Given the description of an element on the screen output the (x, y) to click on. 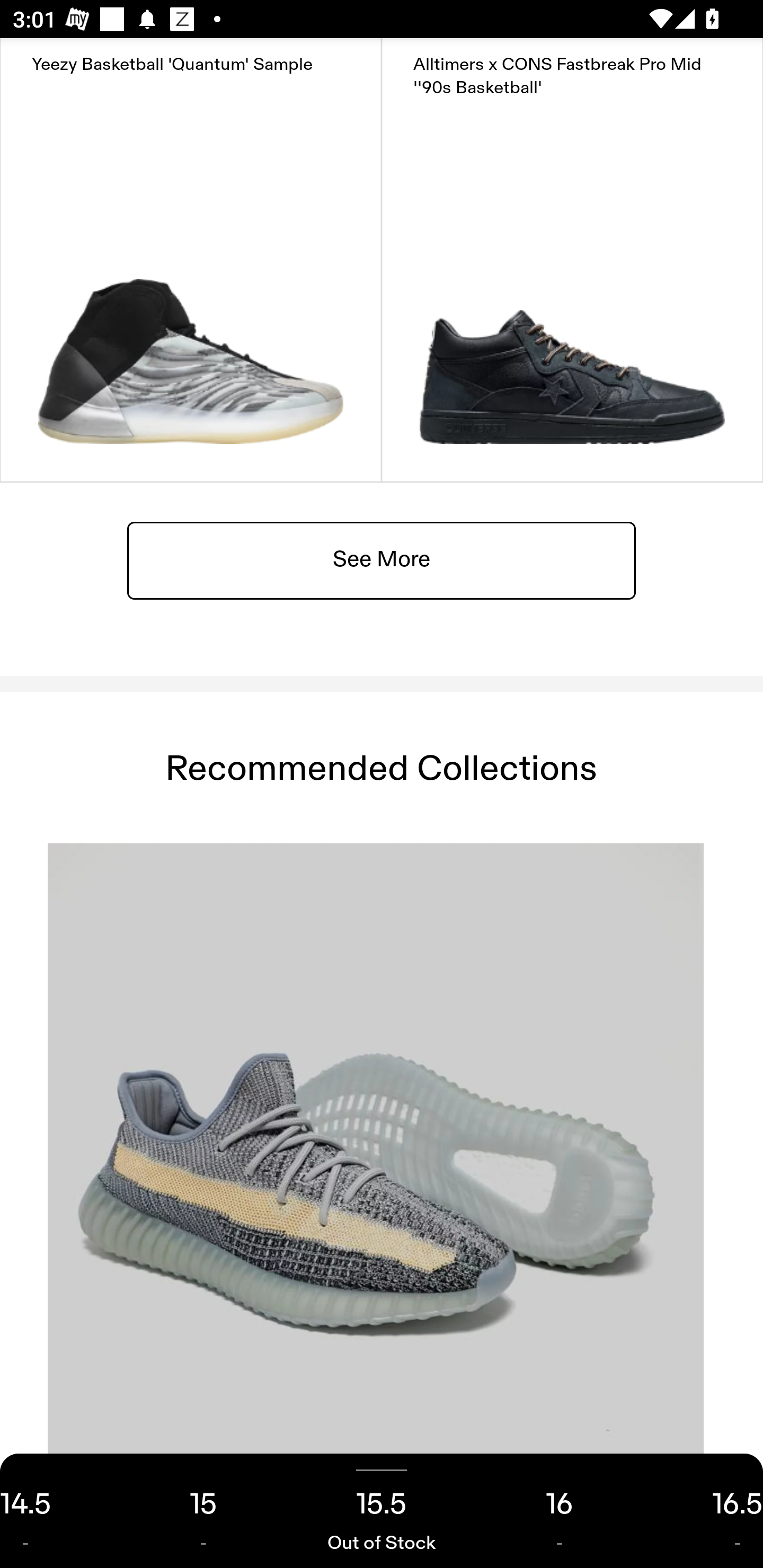
Yeezy Basketball 'Quantum' Sample (190, 259)
See More (381, 559)
14.5 - (57, 1510)
15 - (203, 1510)
15.5 Out of Stock (381, 1510)
16 - (559, 1510)
16.5 - (705, 1510)
